Given the description of an element on the screen output the (x, y) to click on. 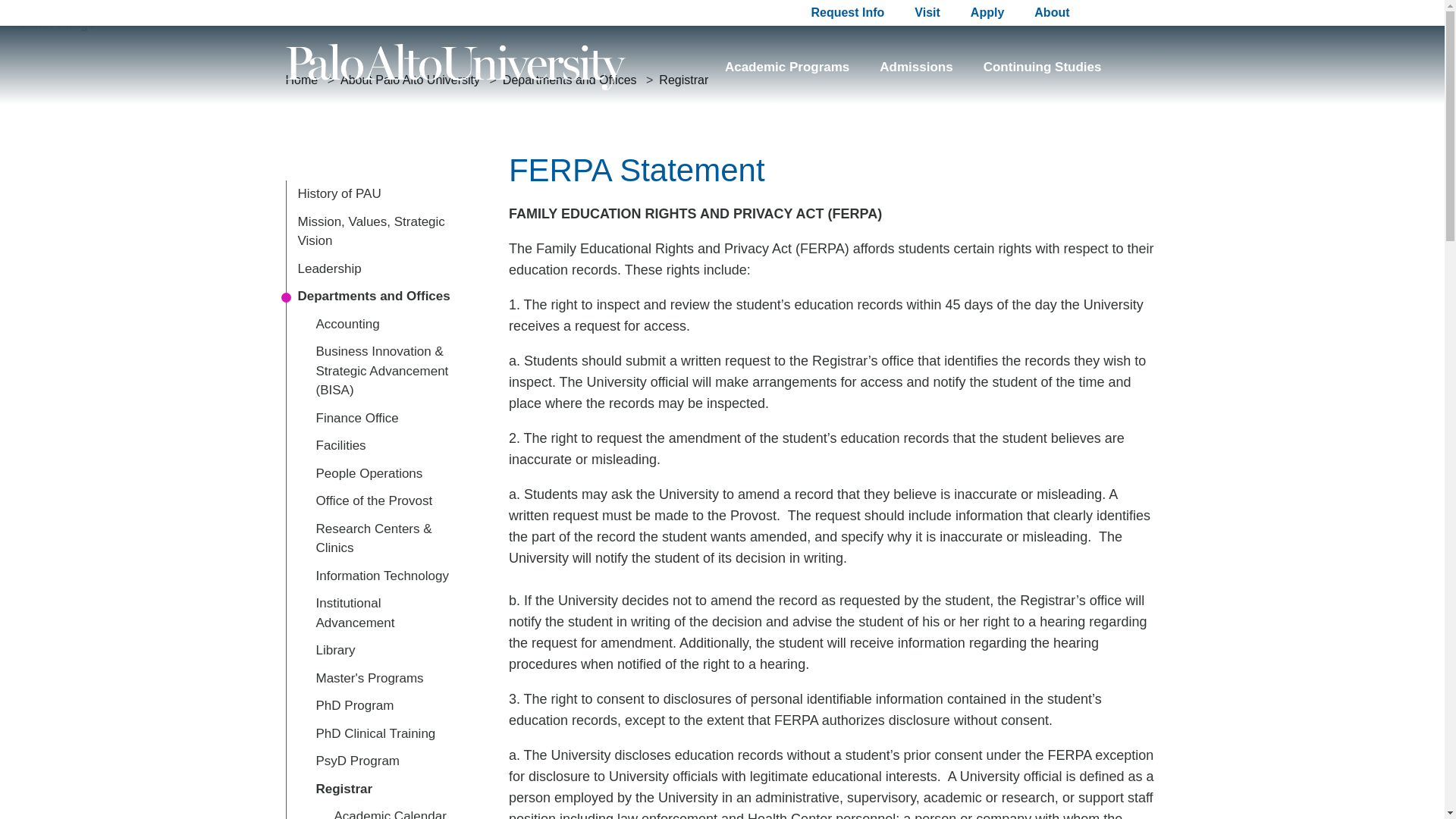
Continuing Studies (1043, 66)
Apply (987, 11)
Admissions (915, 66)
Visit (927, 11)
Request Info (846, 11)
Academic Programs (786, 66)
About (1050, 11)
